Given the description of an element on the screen output the (x, y) to click on. 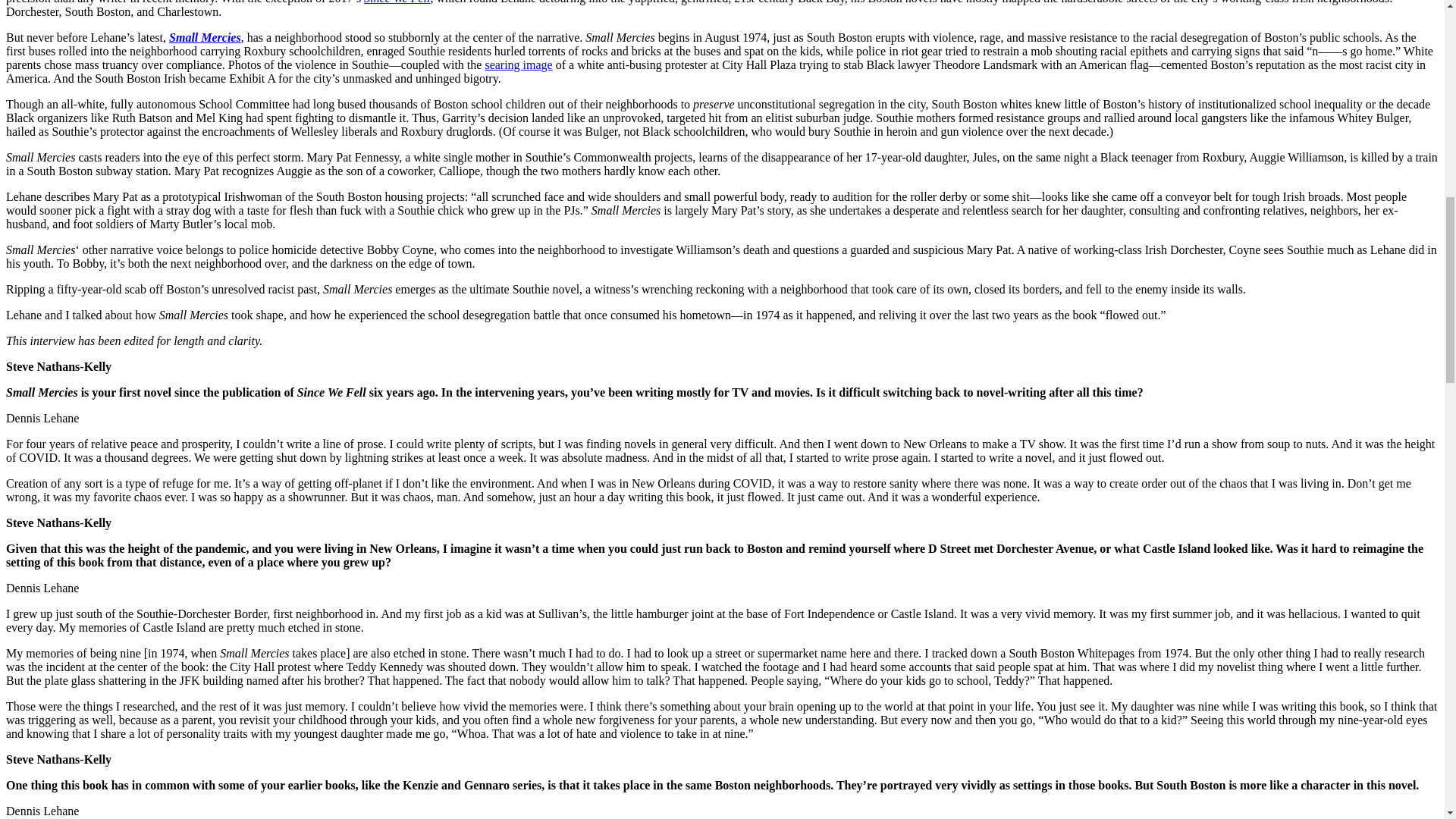
Small Mercies (204, 37)
searing image (517, 64)
Since We Fell (396, 2)
